Given the description of an element on the screen output the (x, y) to click on. 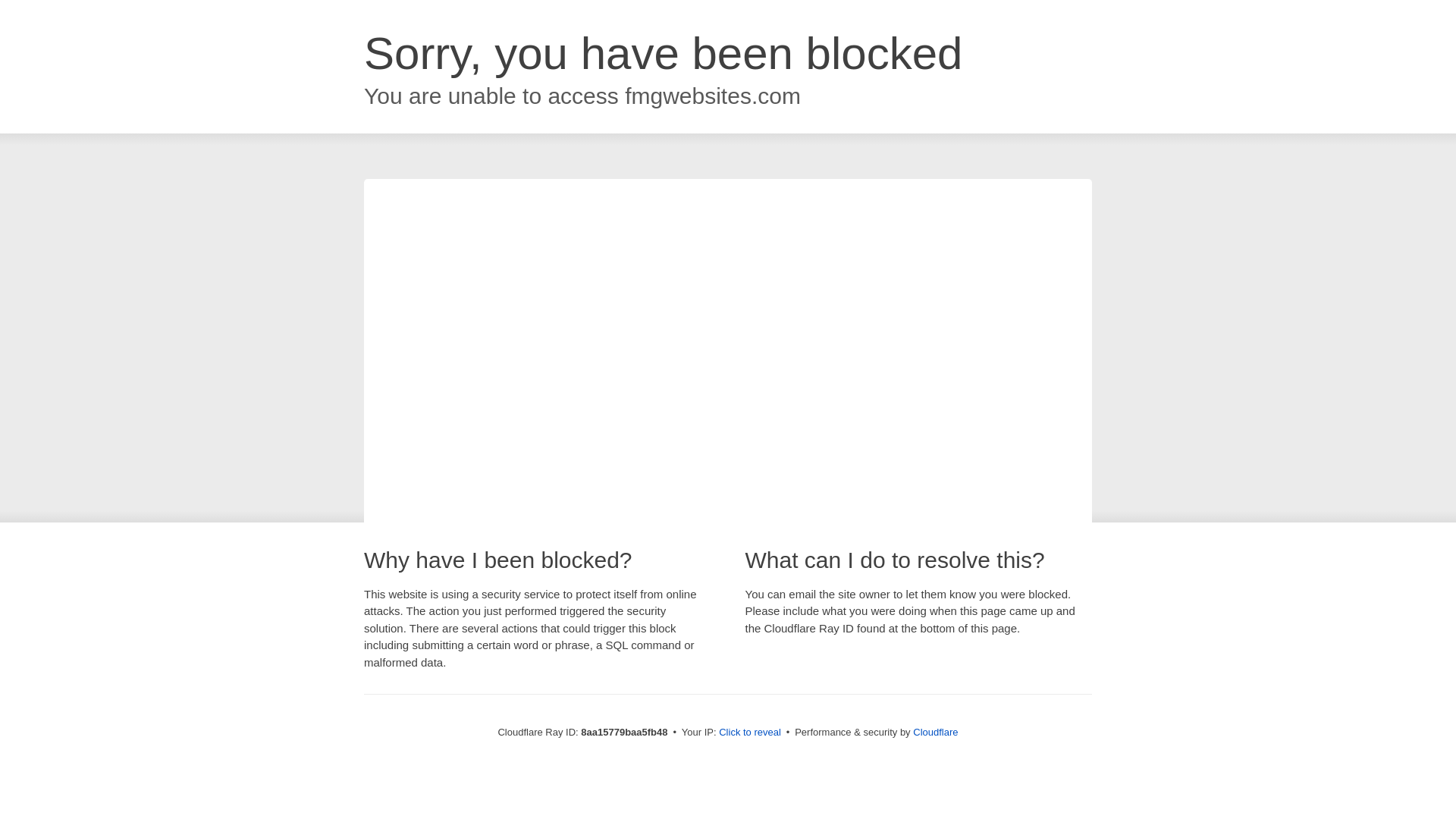
Click to reveal (749, 732)
Cloudflare (935, 731)
